Given the description of an element on the screen output the (x, y) to click on. 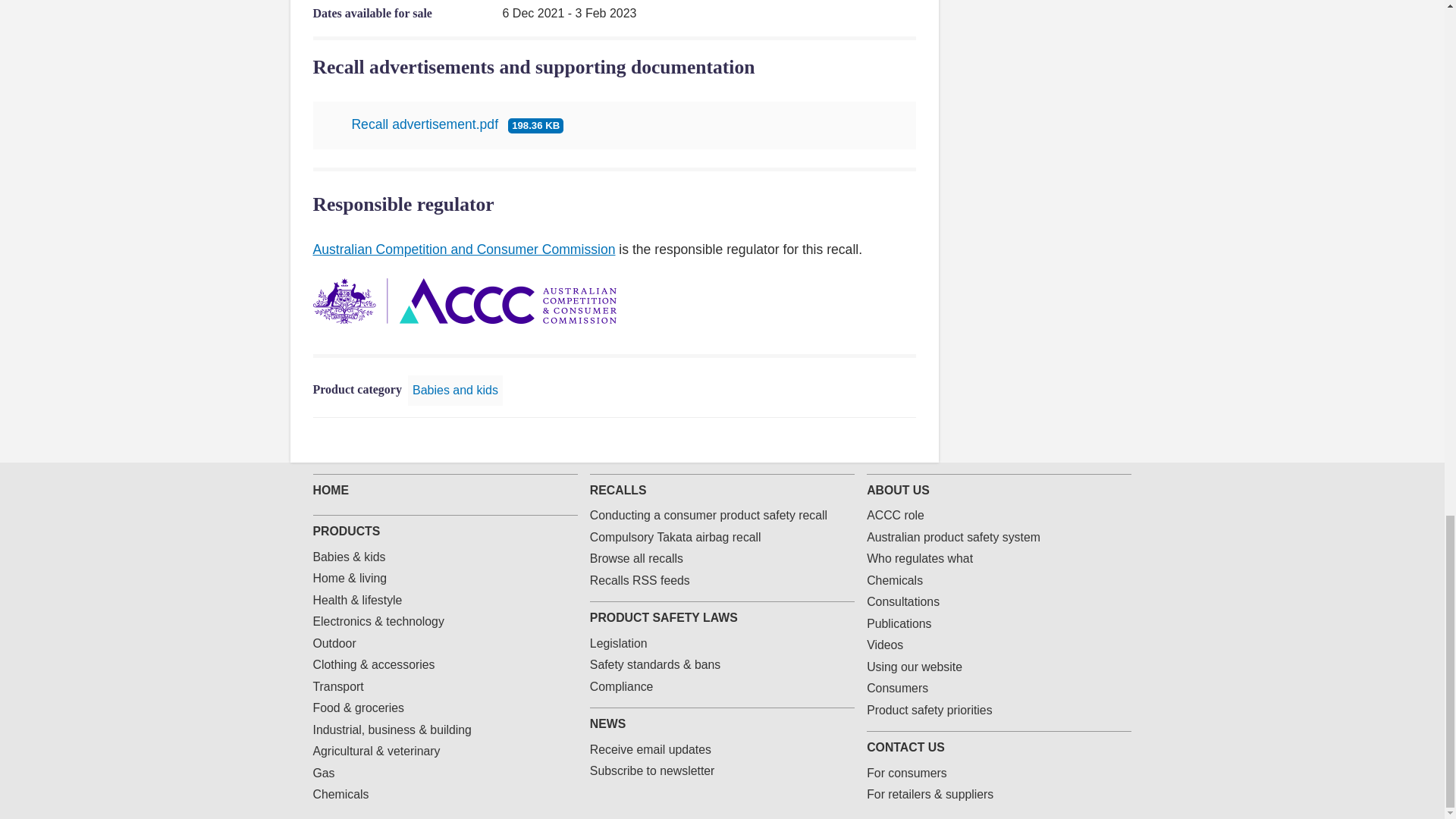
Share on Twitter (834, 439)
Share on Facebook (809, 439)
Print (906, 439)
Share on LinkedIn (857, 439)
Email (882, 439)
